Given the description of an element on the screen output the (x, y) to click on. 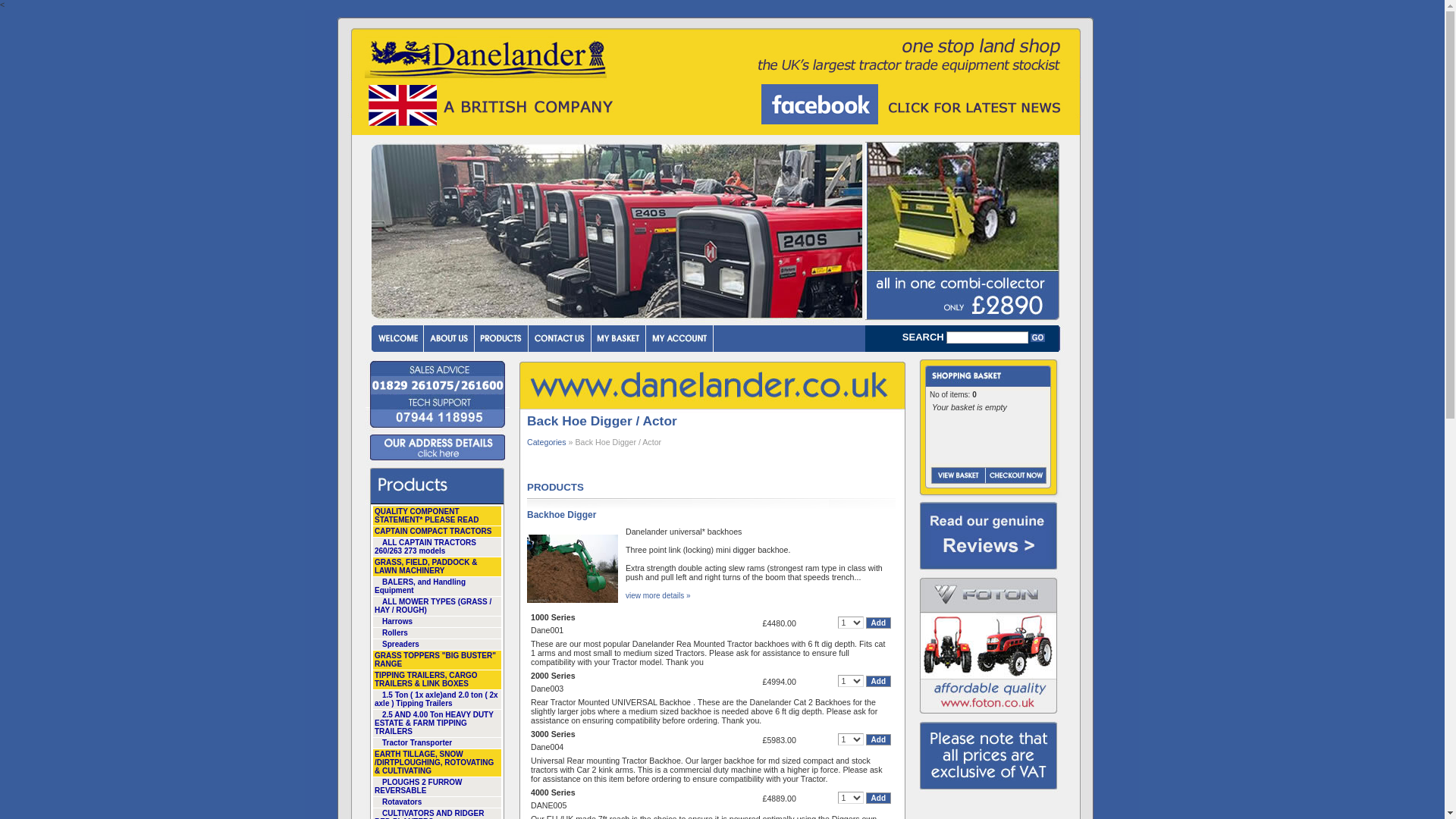
Add (878, 739)
Rollers (436, 633)
Add (878, 797)
Add (878, 681)
GO (1037, 337)
PLOUGHS 2 FURROW REVERSABLE (436, 786)
BALERS, and Handling Equipment (436, 587)
Rotavators (436, 802)
GO (1037, 337)
Go to Google (911, 105)
Harrows (436, 622)
Go to Google (911, 105)
GRASS TOPPERS "BIG BUSTER" RANGE (436, 660)
Add (878, 622)
CULTIVATORS AND RIDGER BED PLANTERS (436, 813)
